Given the description of an element on the screen output the (x, y) to click on. 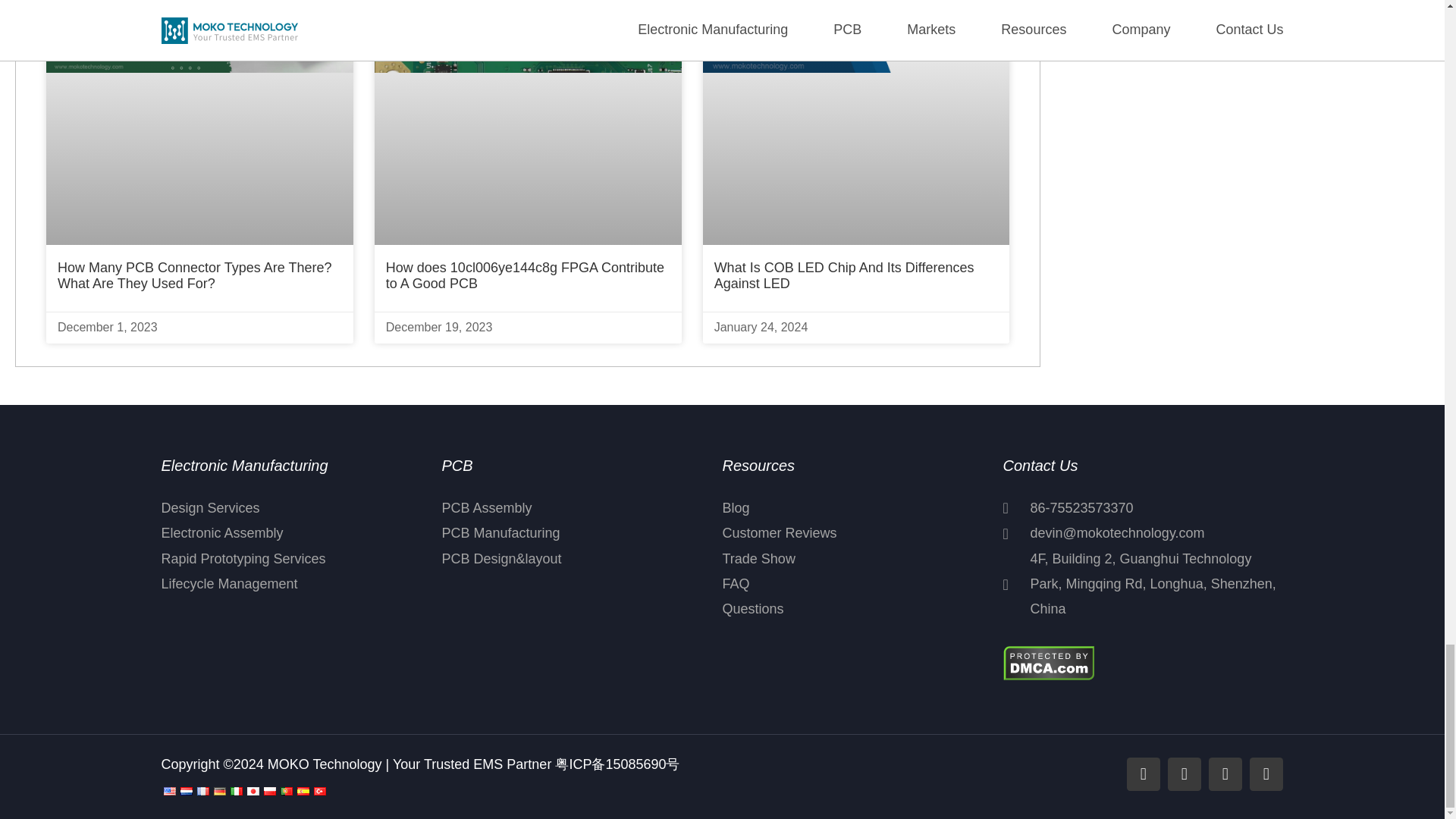
Polski (269, 791)
DMCA.com Protection Status (1048, 661)
Nederlands (185, 791)
Italiano (235, 791)
English (168, 791)
Deutsch (219, 791)
